Given the description of an element on the screen output the (x, y) to click on. 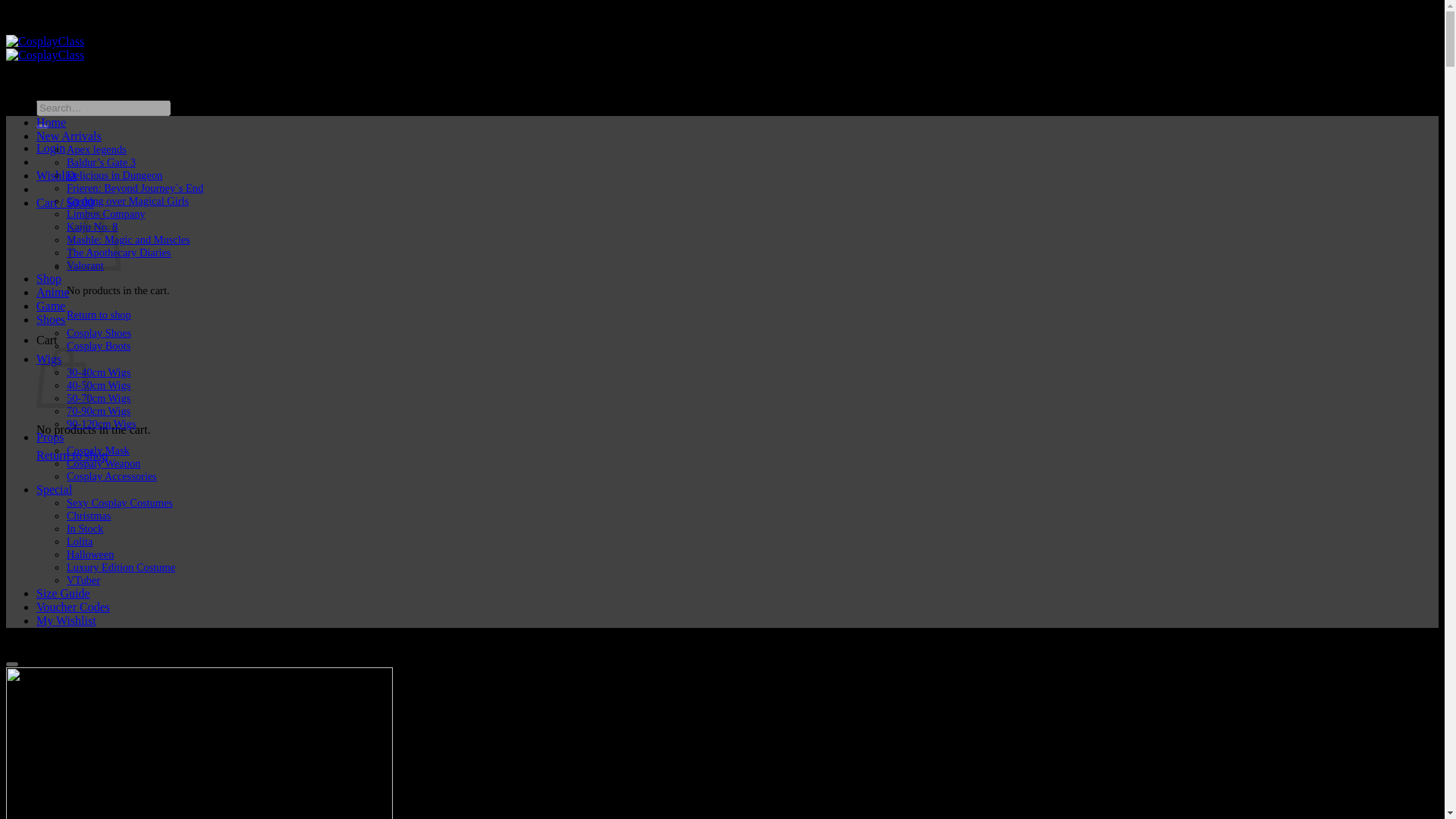
Home (50, 122)
Return to shop (98, 314)
Cosplay Accessories (111, 476)
Cospaly Weapon (102, 463)
Delicious in Dungeon (113, 174)
The Apothecary Diaries (118, 252)
Valorant (84, 265)
Kaiju No. 8 (91, 226)
Cart (65, 202)
Wigs (48, 358)
Special (53, 489)
Search (42, 126)
Limbus Company (105, 214)
50-70cm Wigs (98, 398)
Login (50, 147)
